Given the description of an element on the screen output the (x, y) to click on. 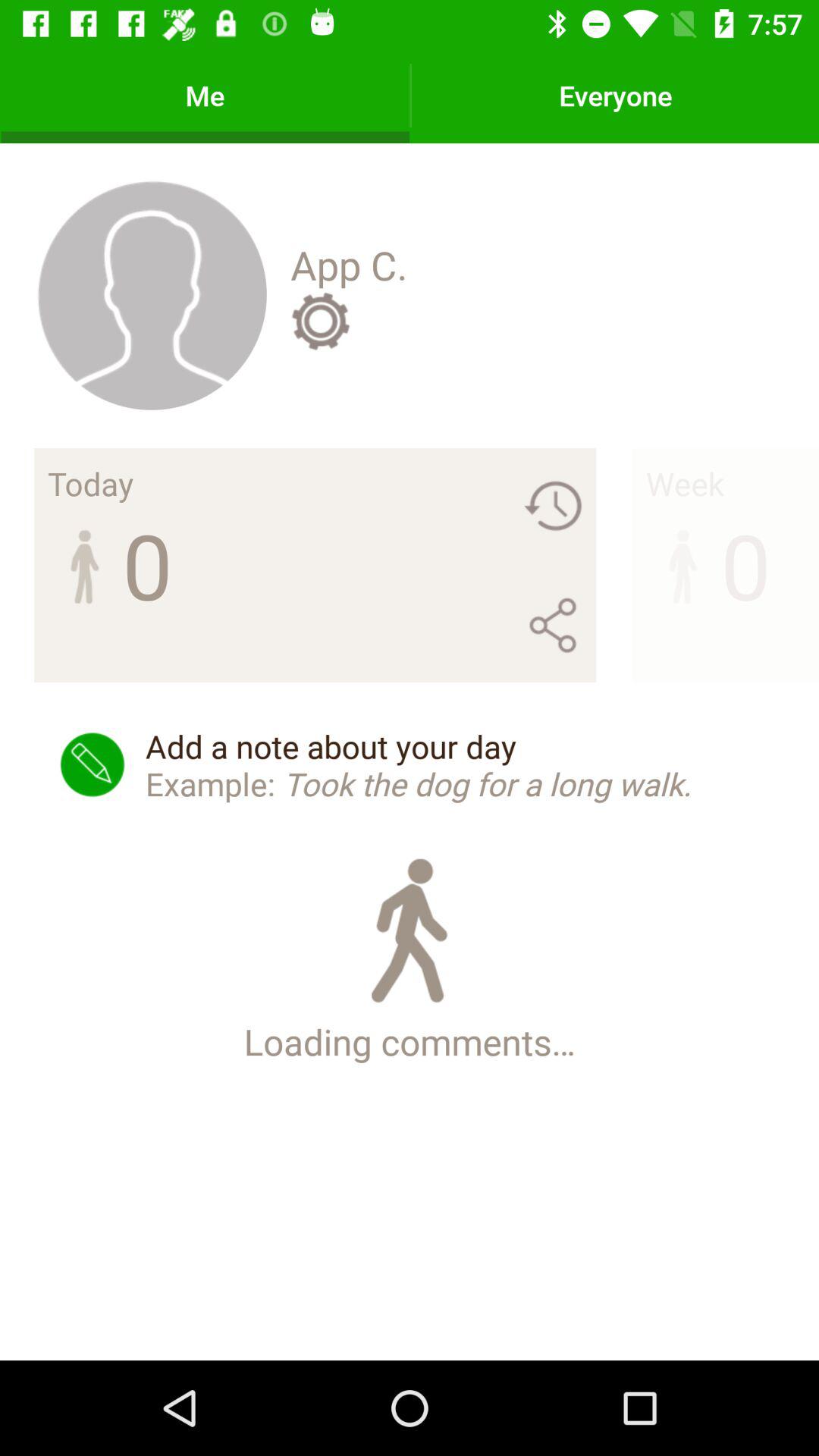
scroll to the week item (685, 483)
